Given the description of an element on the screen output the (x, y) to click on. 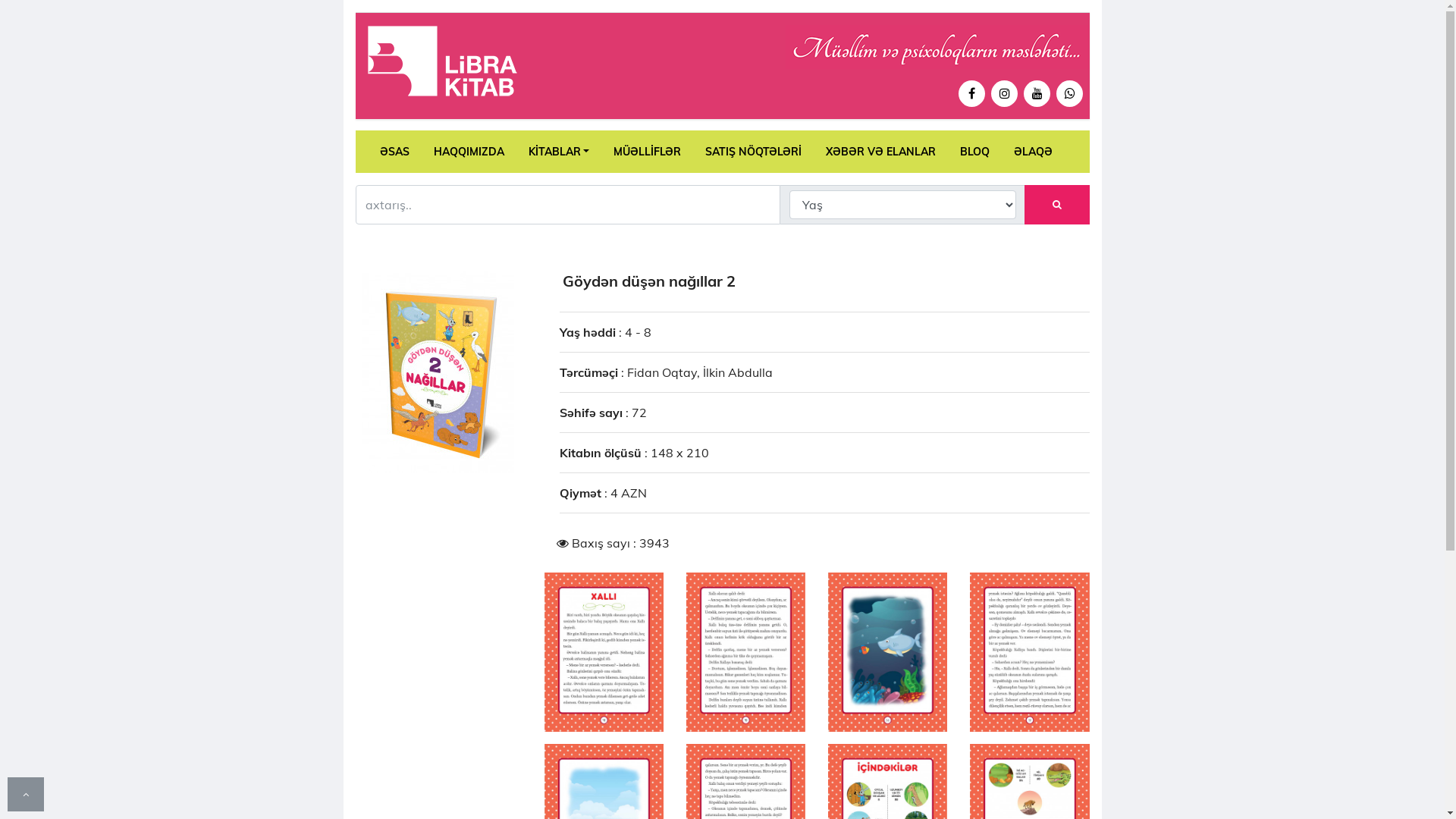
BLOQ Element type: text (974, 151)
Back to Top Element type: hover (25, 793)
KITABLAR Element type: text (558, 151)
HAQQIMIZDA Element type: text (468, 151)
